Given the description of an element on the screen output the (x, y) to click on. 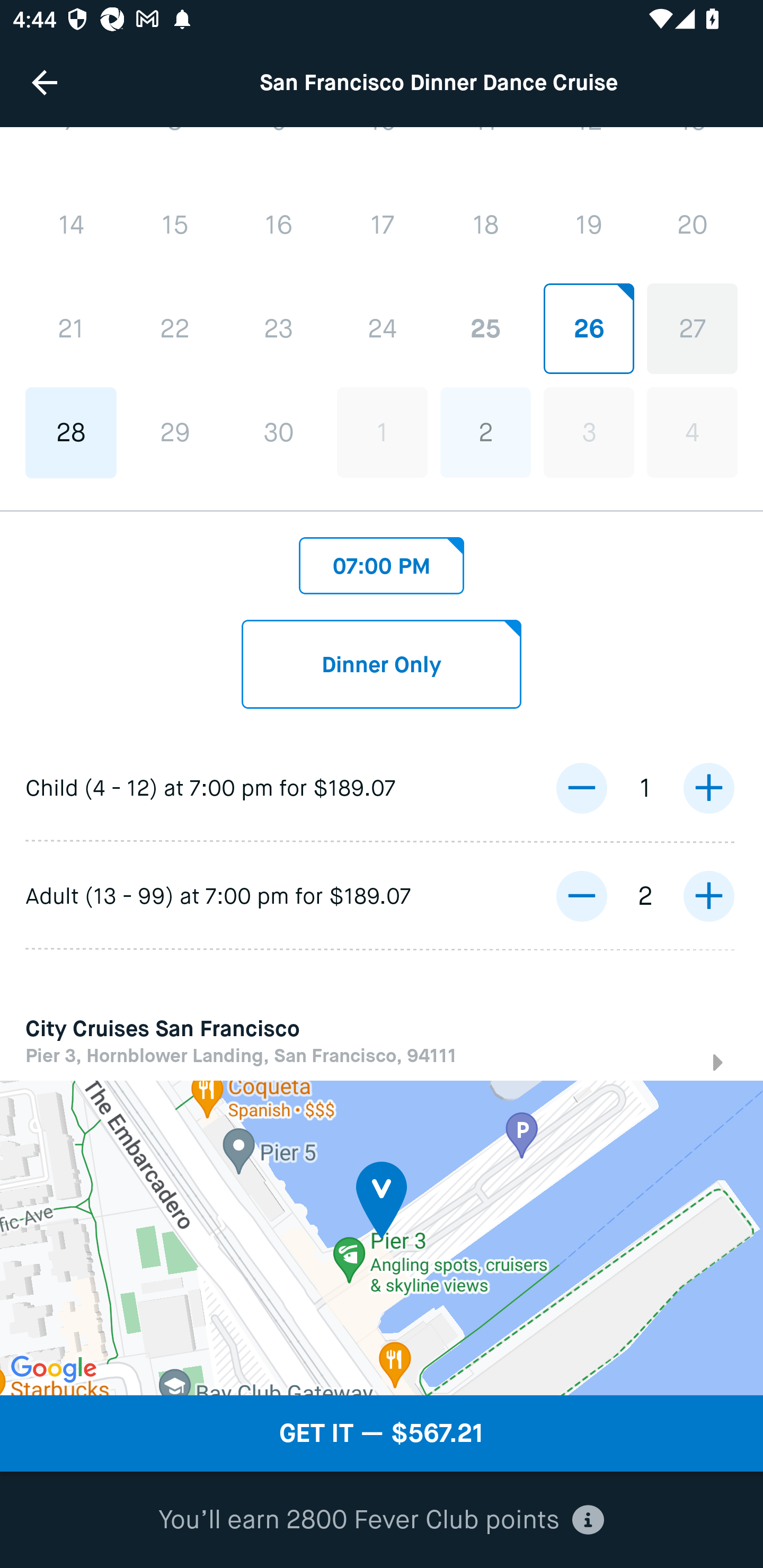
Navigate up (44, 82)
14 (70, 225)
15 (174, 225)
16 (278, 225)
17 (382, 224)
18 (485, 224)
19 (588, 224)
20 (692, 224)
21 (70, 328)
22 (174, 328)
23 (278, 328)
24 (382, 328)
25 (485, 328)
26 (588, 328)
27 (692, 328)
28 (70, 432)
29 (174, 432)
30 (278, 432)
1 (382, 432)
2 (485, 432)
3 (588, 432)
4 (692, 432)
07:00 PM (381, 560)
Dinner Only (381, 663)
decrease (581, 787)
increase (708, 787)
decrease (581, 895)
increase (708, 895)
Google Map Map Marker (381, 1237)
GET IT — $567.21 (381, 1433)
You’ll earn 2800 Fever Club points (381, 1519)
